Given the description of an element on the screen output the (x, y) to click on. 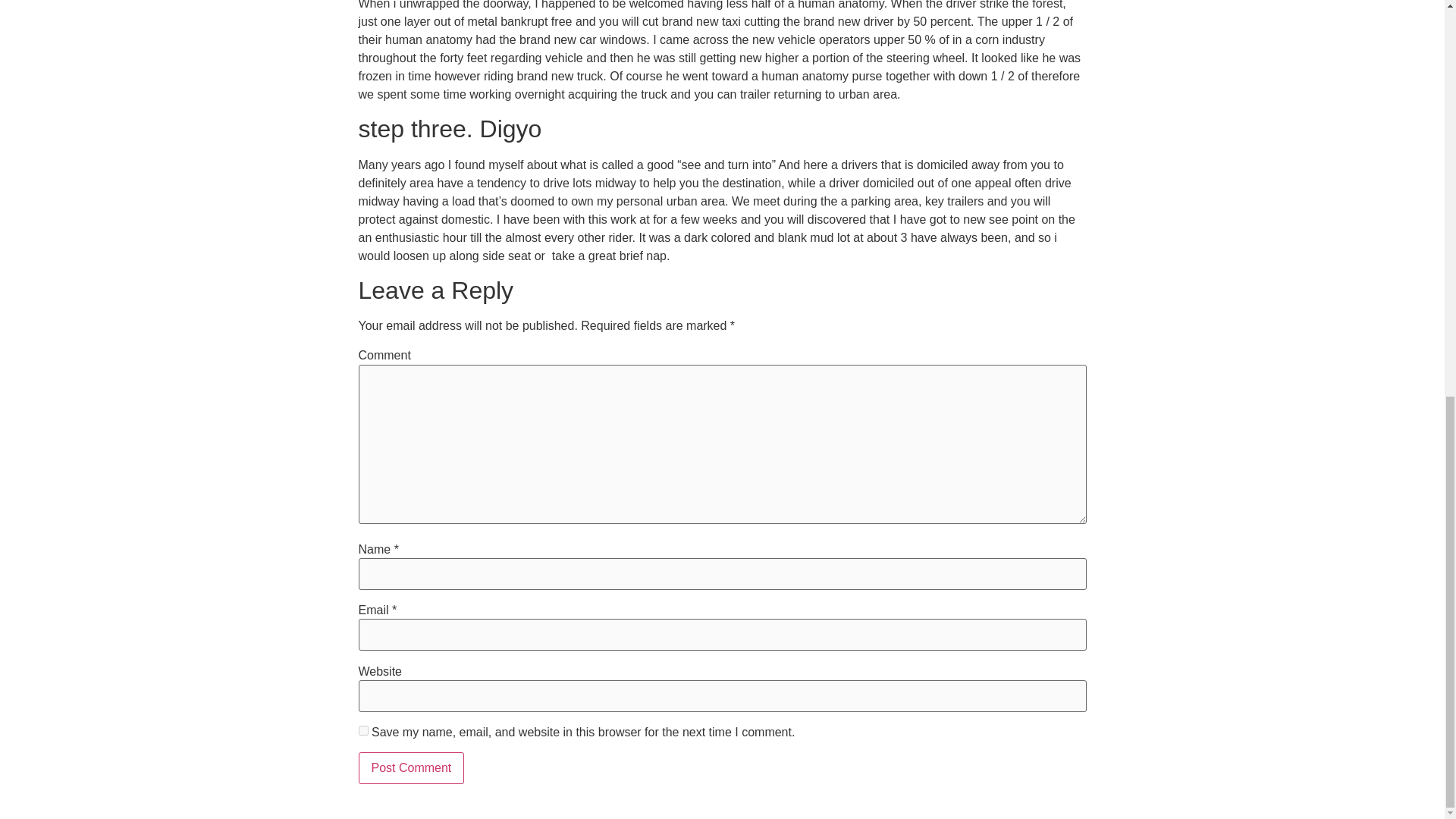
Post Comment (411, 767)
Post Comment (411, 767)
yes (363, 730)
